Given the description of an element on the screen output the (x, y) to click on. 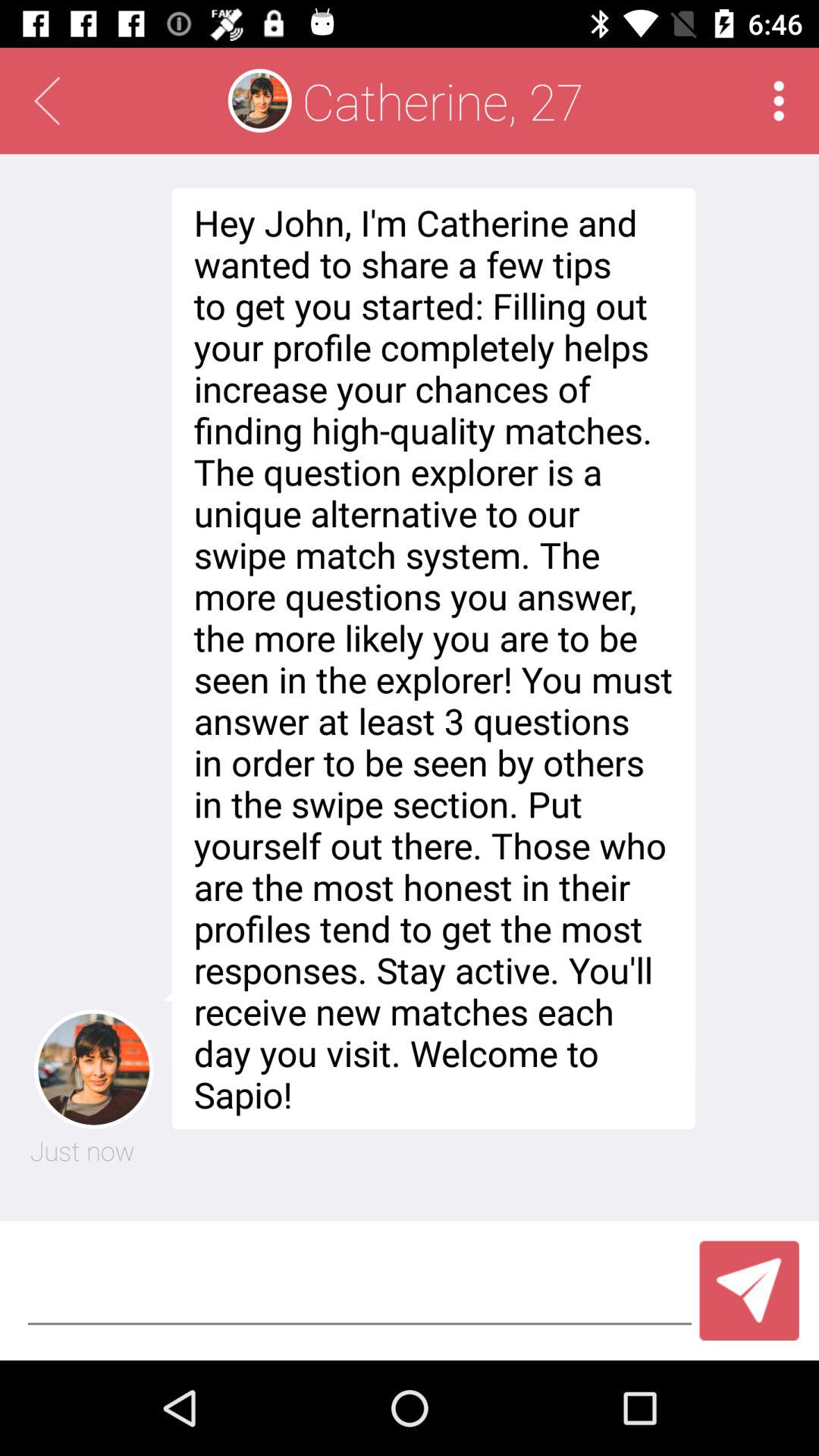
jump to hey john i (429, 658)
